Given the description of an element on the screen output the (x, y) to click on. 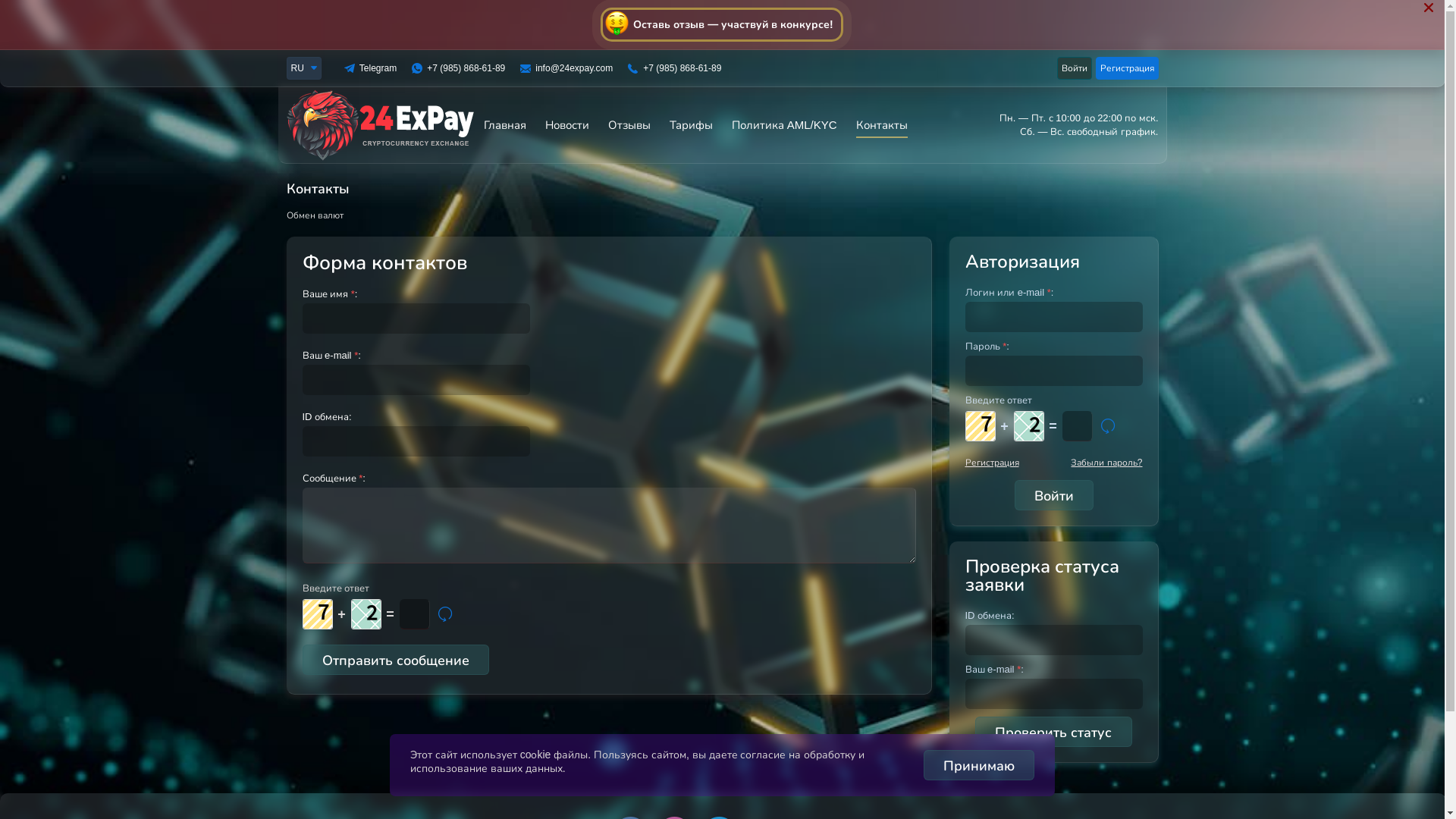
info@24expay.com Element type: text (573, 67)
+7 (985) 868-61-89 Element type: text (465, 67)
Telegram Element type: text (377, 67)
